Given the description of an element on the screen output the (x, y) to click on. 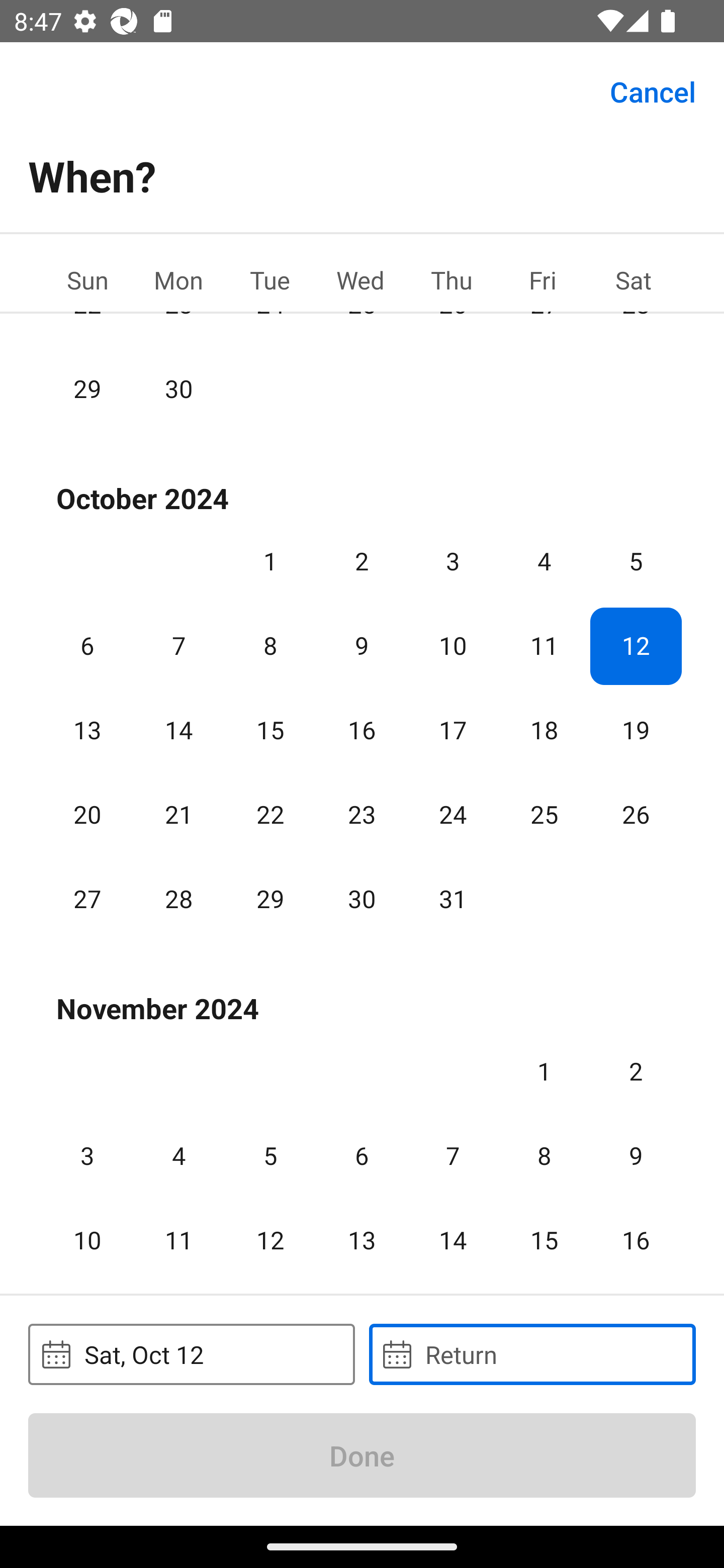
Cancel (652, 90)
Sat, Oct 12 (191, 1353)
Return (532, 1353)
Done (361, 1454)
